Given the description of an element on the screen output the (x, y) to click on. 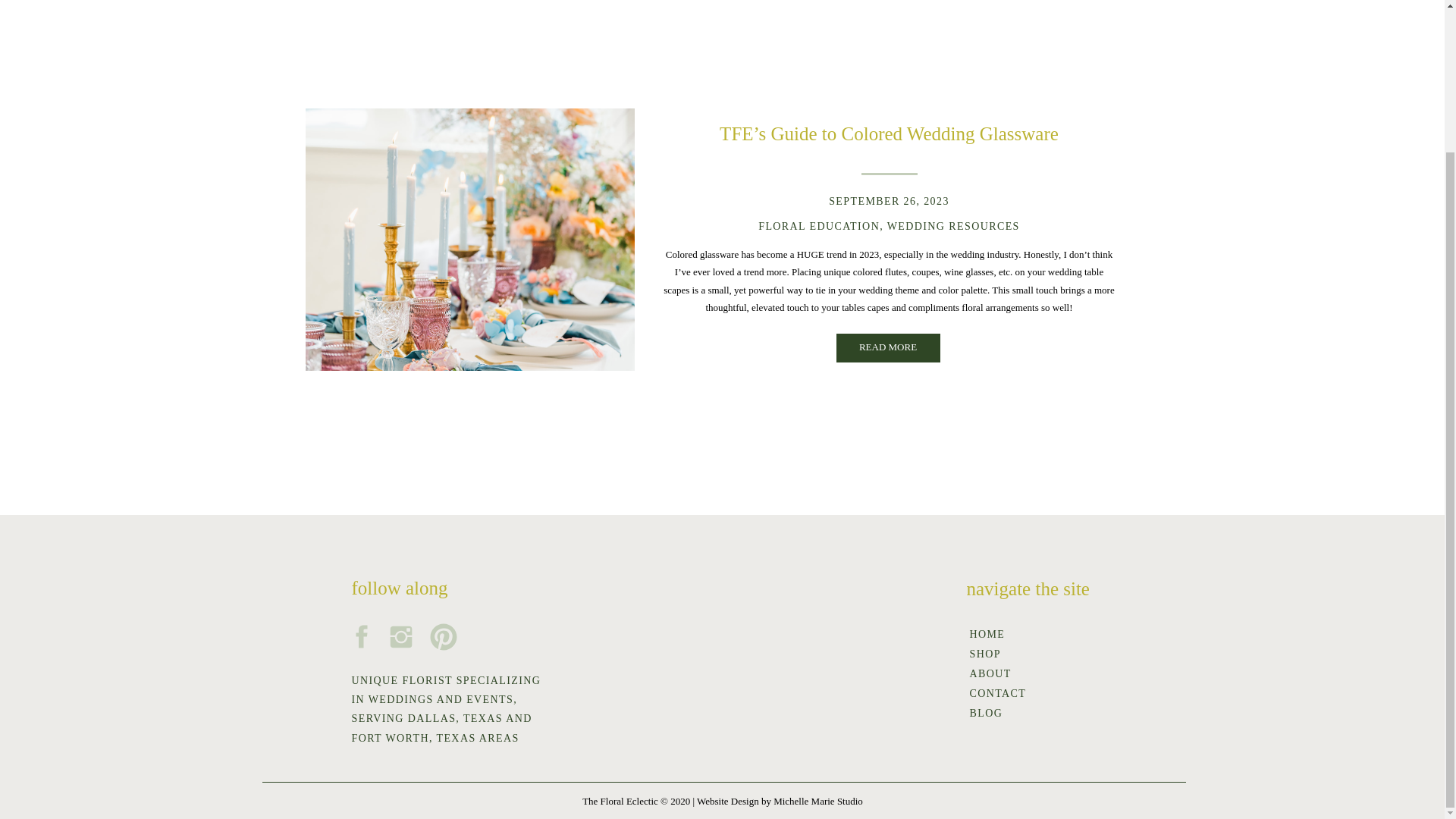
HOME (1014, 634)
READ MORE (887, 349)
ABOUT (1014, 673)
WEDDING RESOURCES (953, 225)
SHOP (1014, 654)
BLOG (1014, 713)
FLORAL EDUCATION (818, 225)
Michelle Marie Studio (818, 800)
CONTACT (1014, 693)
